Given the description of an element on the screen output the (x, y) to click on. 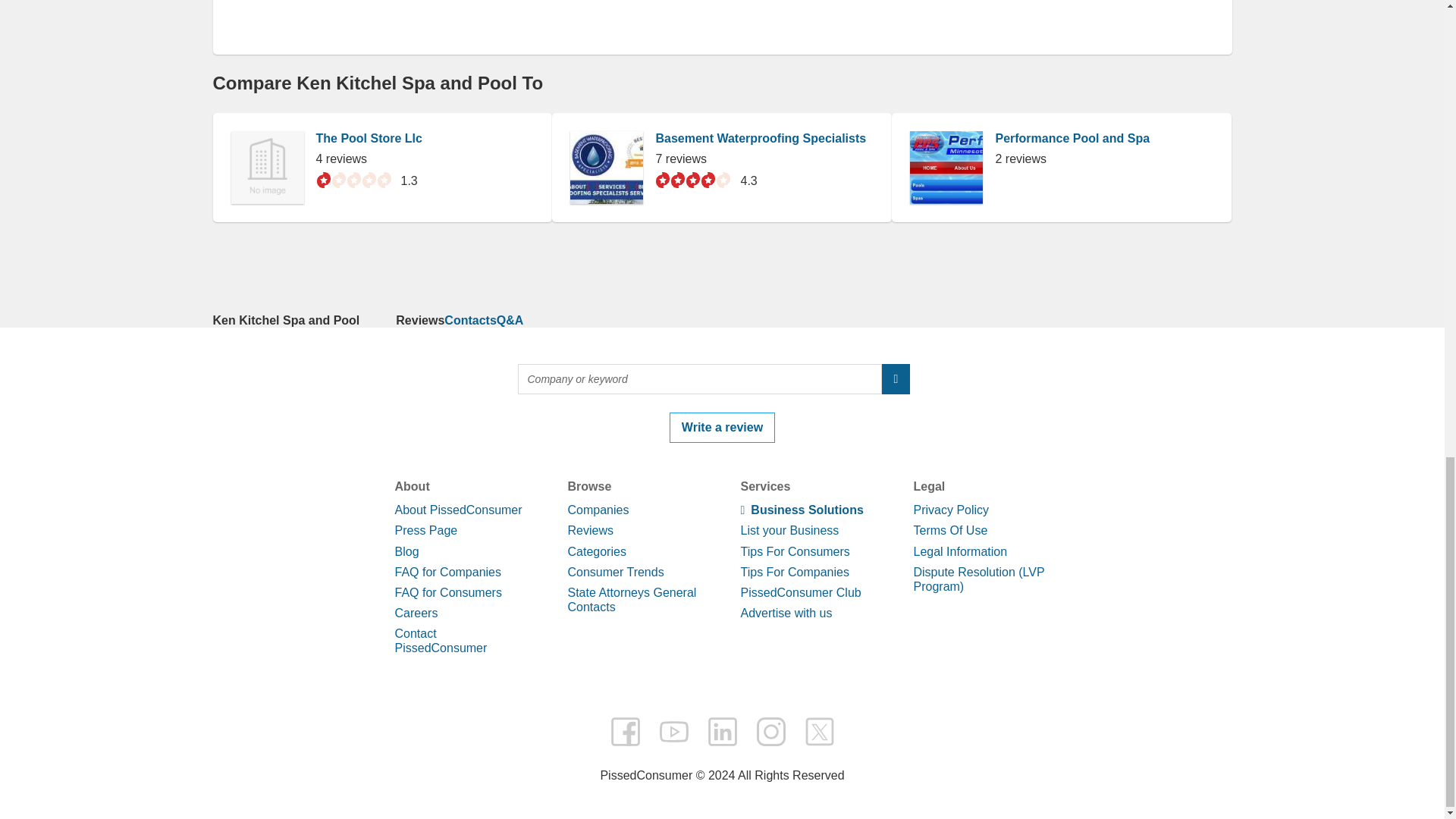
Basement Waterproofing Specialists (760, 137)
FAQ for Companies (447, 571)
Terms Of Use (949, 530)
Privacy Policy (950, 509)
Blog (406, 551)
FAQ for Consumers (447, 592)
Careers (416, 612)
About PissedConsumer (457, 509)
youtube (673, 731)
Consumer Trends (615, 571)
